Given the description of an element on the screen output the (x, y) to click on. 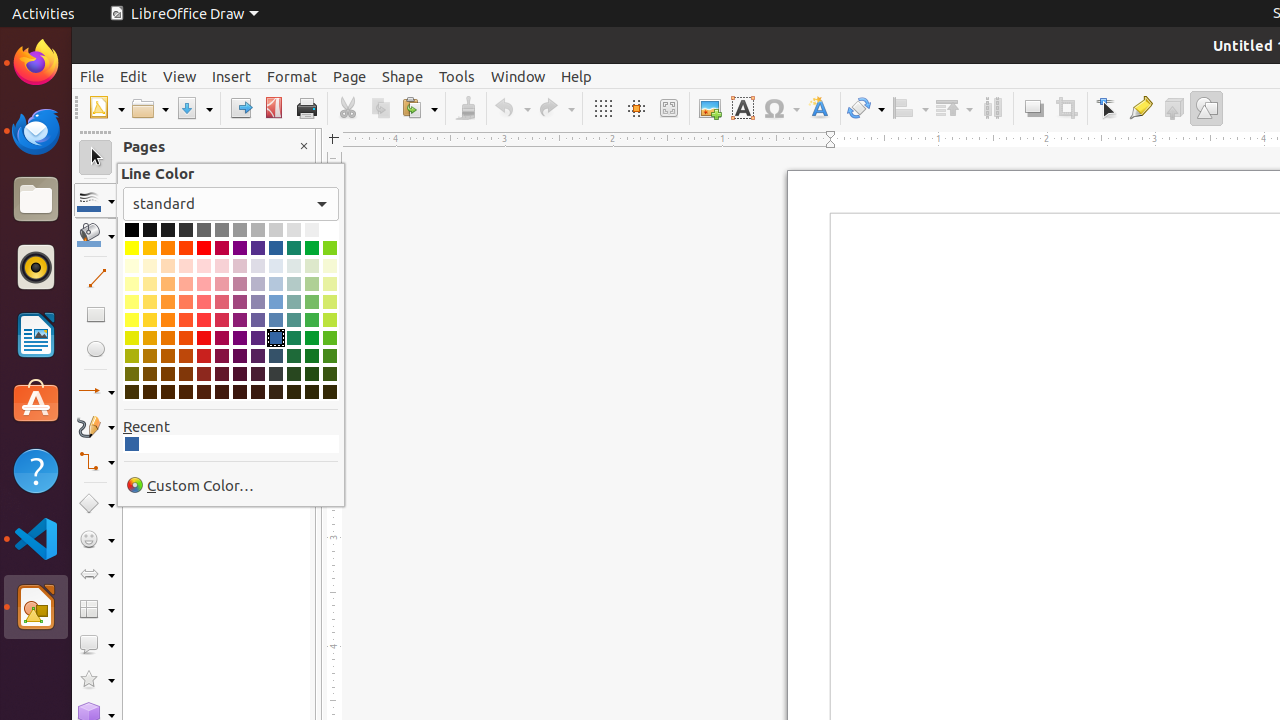
Dark Blue 3 Element type: list-item (276, 374)
Dark Purple 4 Element type: list-item (240, 392)
Dark Lime 3 Element type: list-item (330, 374)
Light Teal 3 Element type: list-item (294, 284)
